Given the description of an element on the screen output the (x, y) to click on. 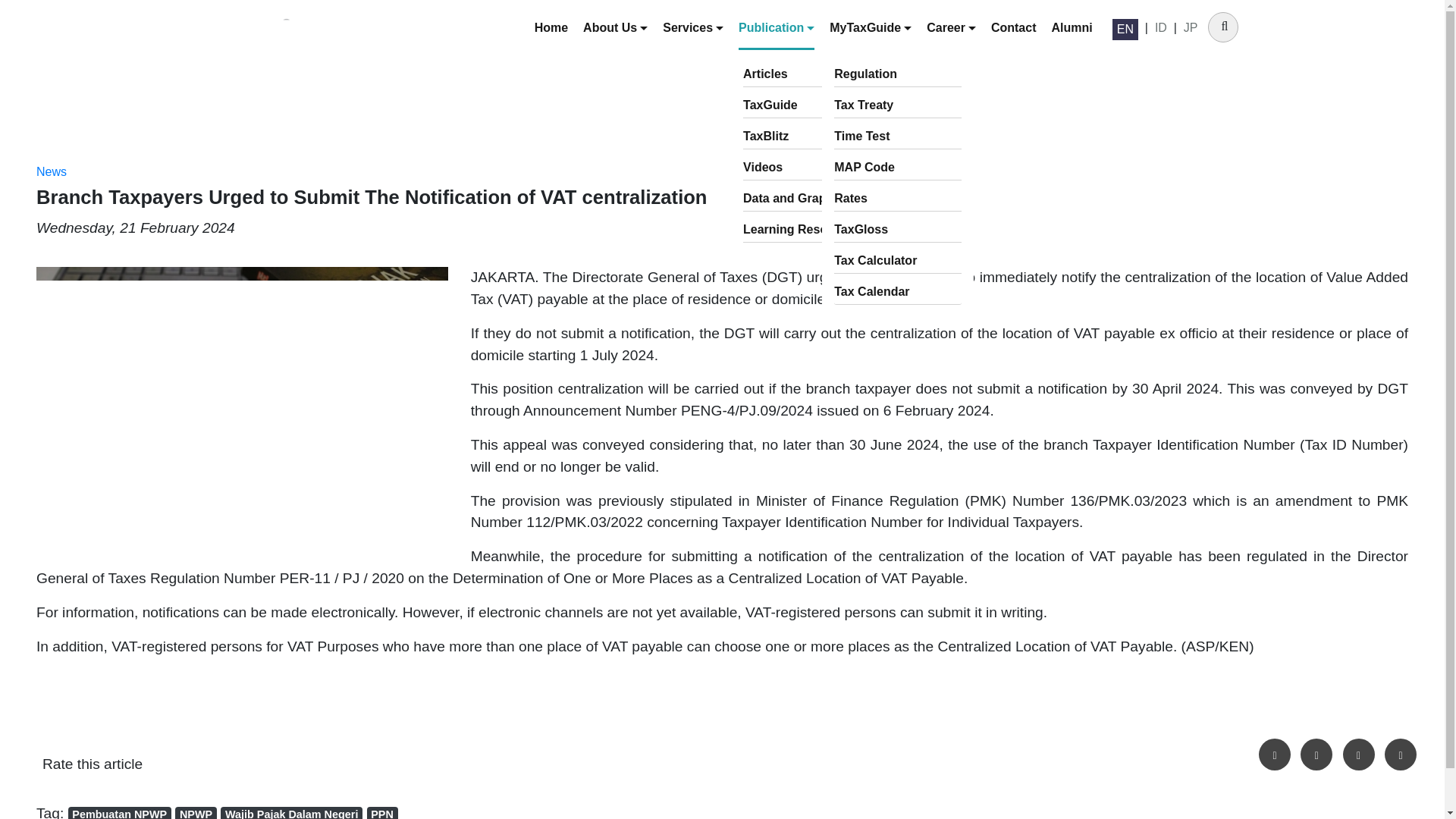
Tax Treaty (897, 105)
Tax Calendar (897, 292)
Rates (897, 198)
Data and Graphic (806, 198)
MAP Code (897, 167)
Tax Calculator (897, 260)
Time Test (897, 136)
Videos (806, 167)
About Us (615, 28)
Articles (806, 74)
TaxBlitz (806, 136)
TaxGuide (806, 105)
Services (692, 28)
Career (950, 28)
